Given the description of an element on the screen output the (x, y) to click on. 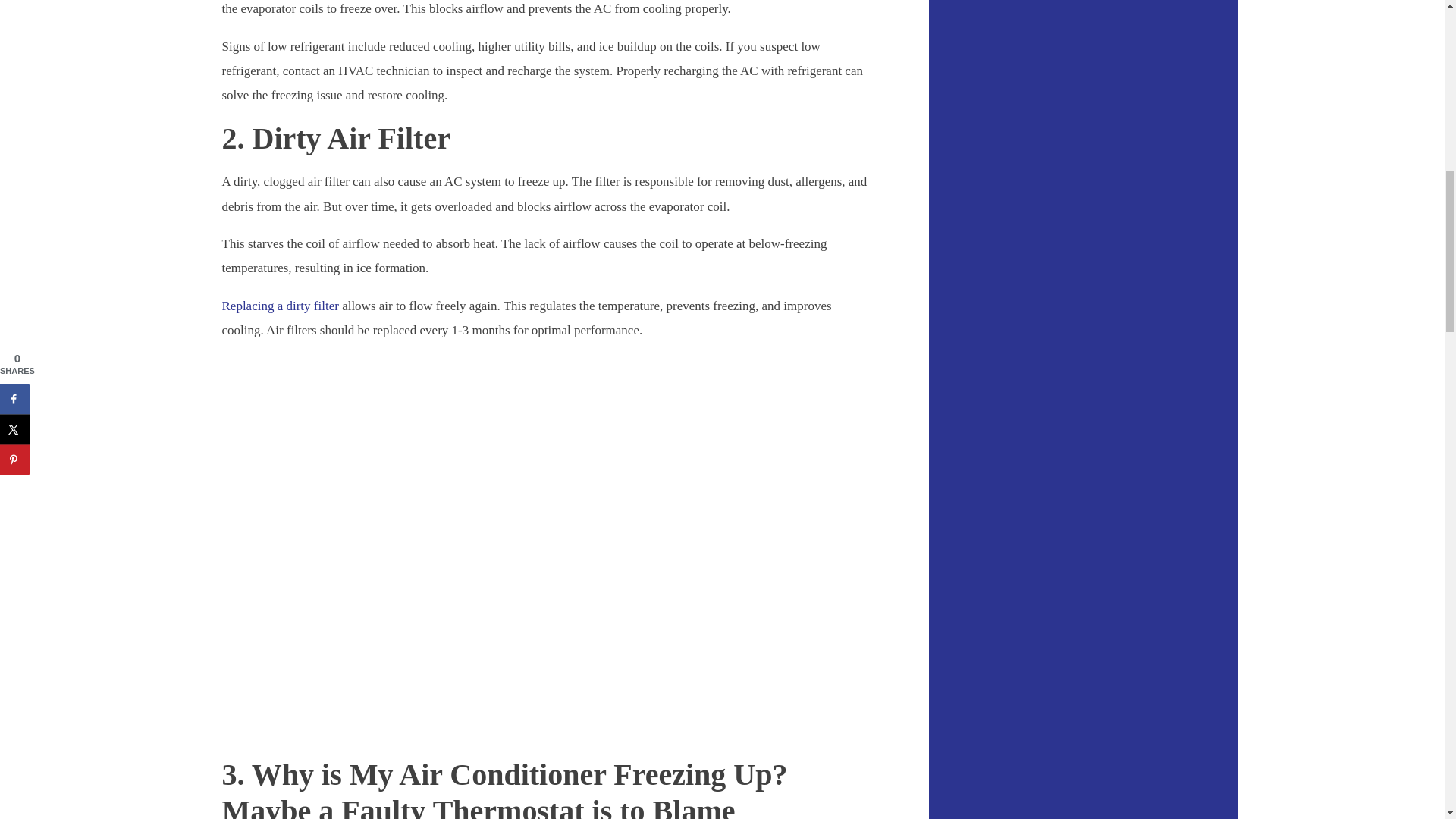
Replacing a dirty filter (279, 305)
